Given the description of an element on the screen output the (x, y) to click on. 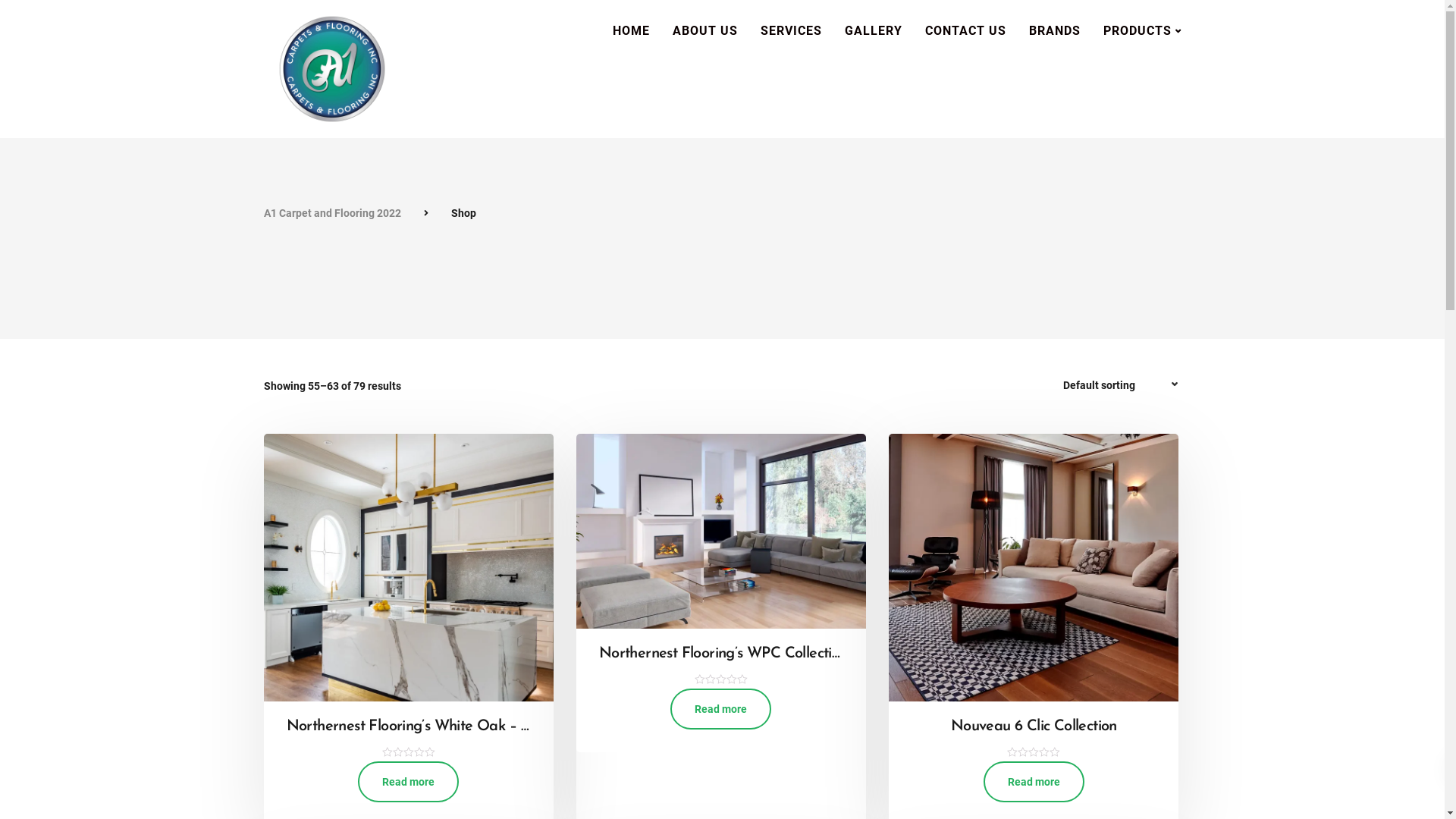
PRODUCTS Element type: text (1142, 30)
Read more Element type: text (1033, 781)
CONTACT US Element type: text (964, 30)
Read more Element type: text (407, 781)
SERVICES Element type: text (791, 30)
ABOUT US Element type: text (705, 30)
GALLERY Element type: text (872, 30)
HOME Element type: text (630, 30)
A1 Carpet and Flooring 2022 Element type: text (332, 213)
Nouveau 6 Clic Collection Element type: text (1033, 738)
Read more Element type: text (720, 708)
BRANDS Element type: text (1054, 30)
